Given the description of an element on the screen output the (x, y) to click on. 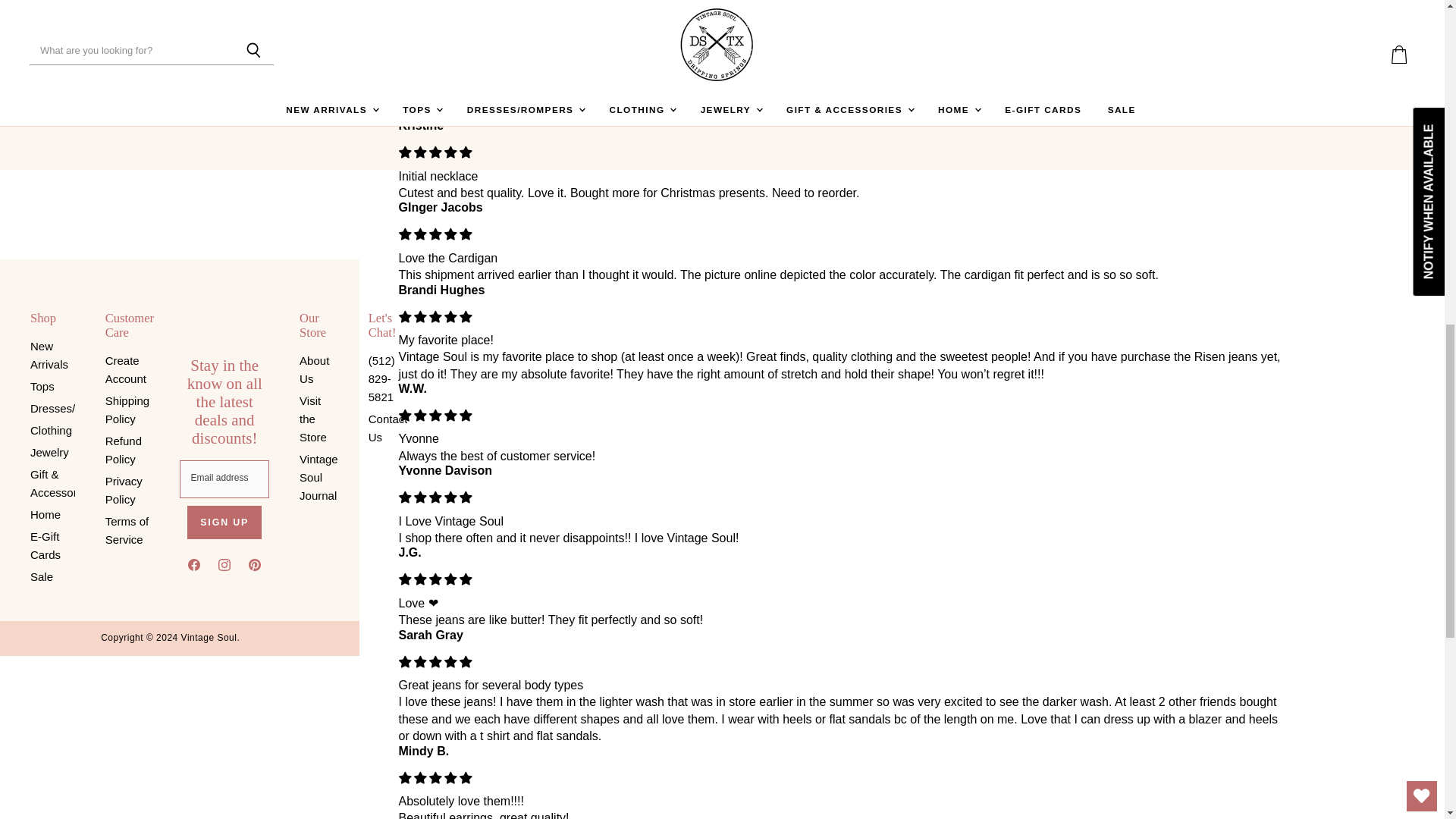
Instagram (224, 567)
Facebook (194, 567)
Pinterest (254, 567)
